Given the description of an element on the screen output the (x, y) to click on. 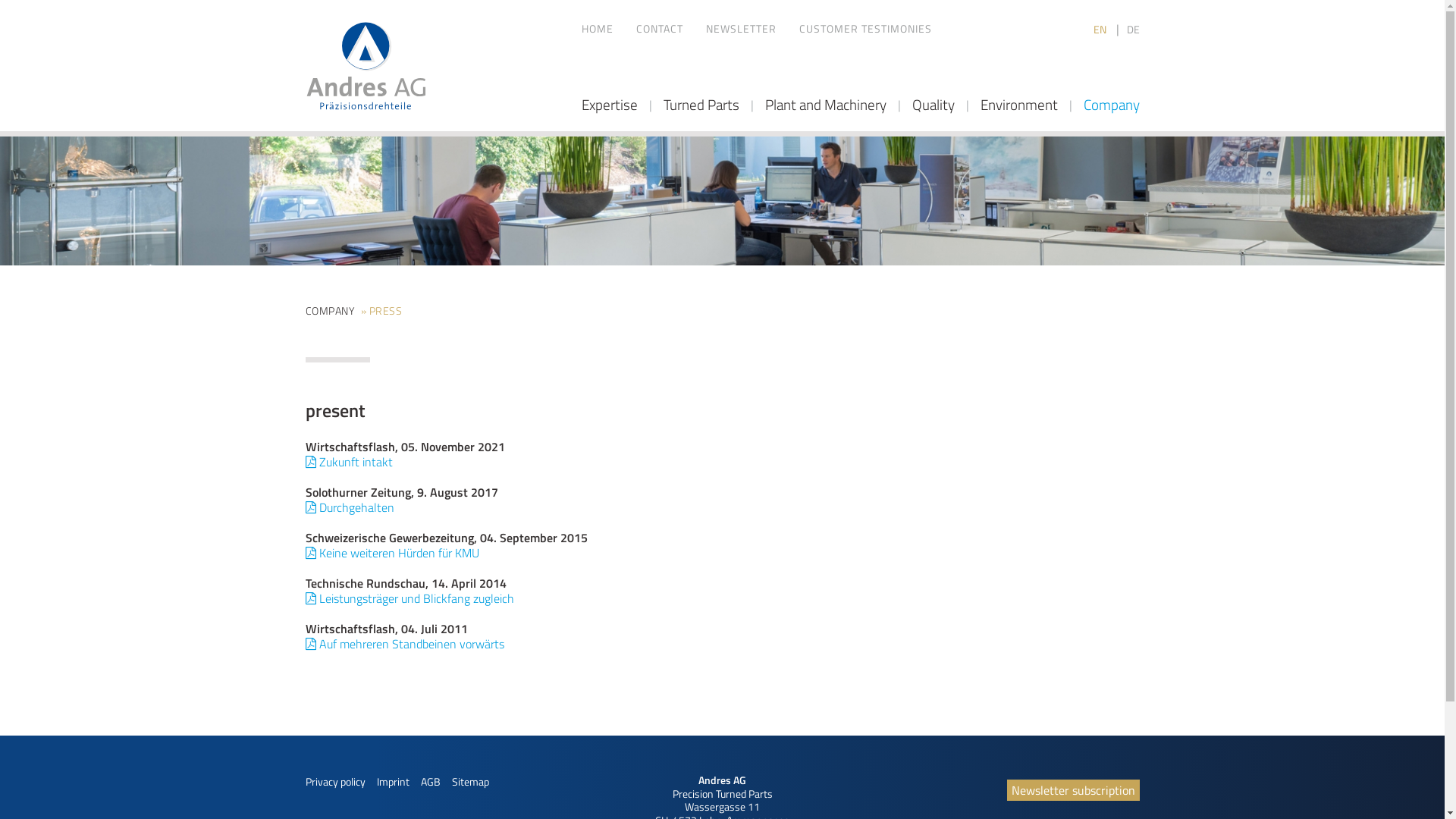
Turned Parts Element type: text (700, 104)
Expertise Element type: text (608, 104)
CUSTOMER TESTIMONIES Element type: text (865, 28)
Company Element type: text (1110, 104)
COMPANY Element type: text (329, 310)
Durchgehalten Element type: text (348, 507)
HOME Element type: text (596, 28)
Imprint Element type: text (392, 781)
Quality Element type: text (932, 104)
Privacy policy Element type: text (334, 781)
Zukunft intakt Element type: text (348, 461)
CONTACT Element type: text (658, 28)
Andres AG Element type: hover (365, 65)
Sitemap Element type: text (470, 781)
DE Element type: text (1132, 29)
AGB Element type: text (429, 781)
NEWSLETTER Element type: text (740, 28)
Environment Element type: text (1018, 104)
EN Element type: text (1100, 29)
Plant and Machinery Element type: text (824, 104)
Newsletter subscription Element type: text (1073, 789)
